Given the description of an element on the screen output the (x, y) to click on. 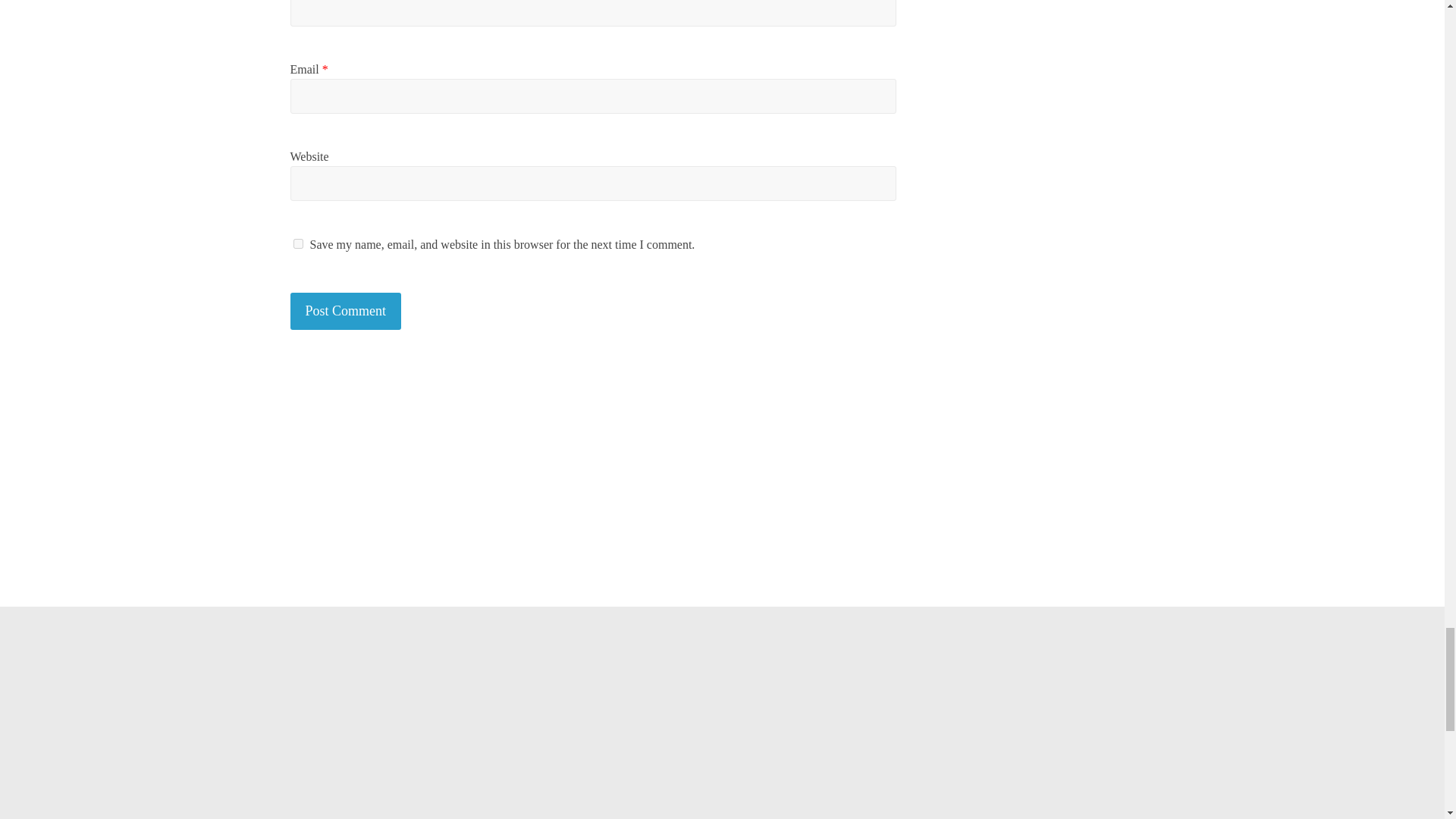
Post Comment (345, 311)
yes (297, 243)
